Given the description of an element on the screen output the (x, y) to click on. 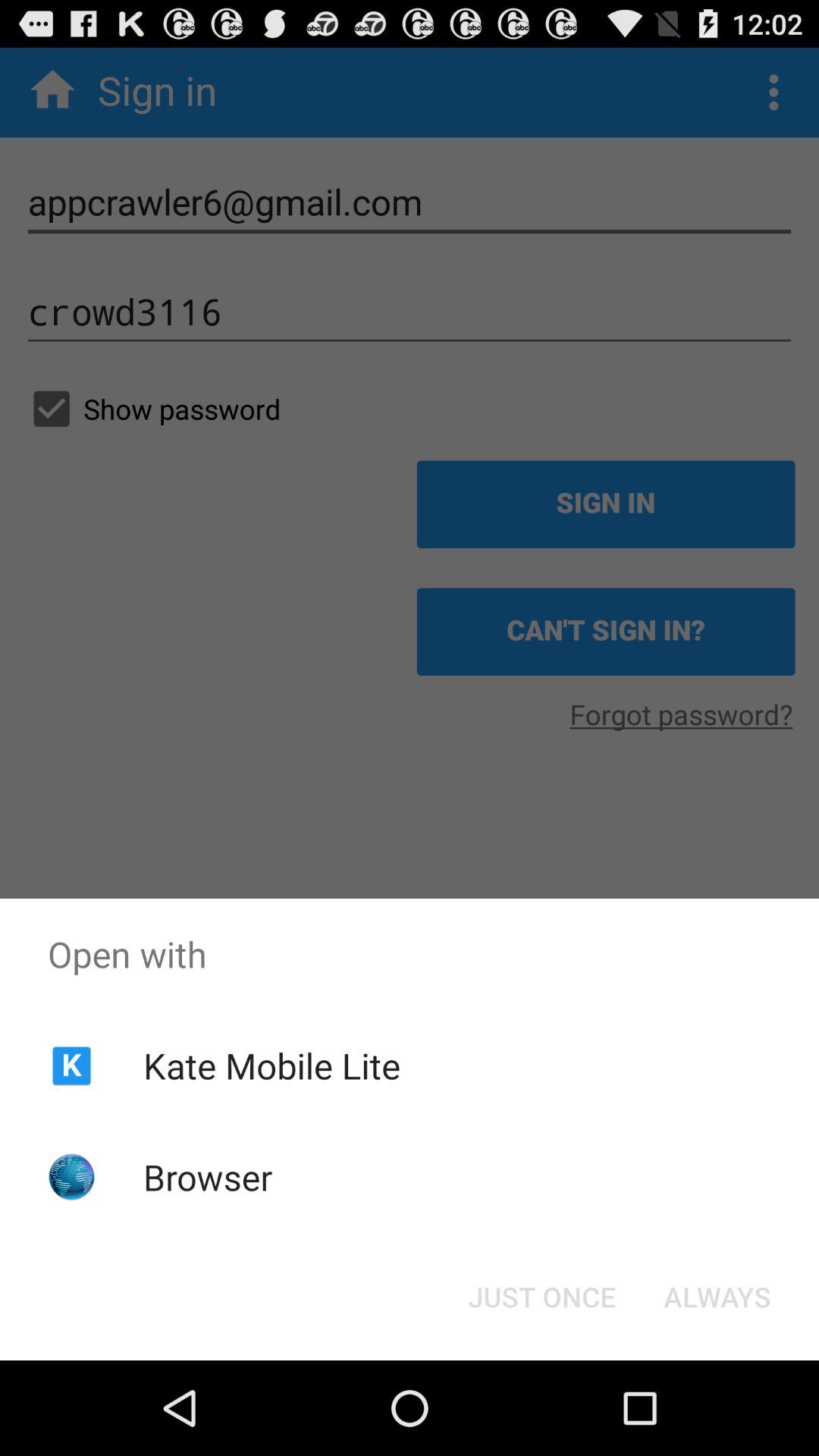
select app below open with item (271, 1065)
